Given the description of an element on the screen output the (x, y) to click on. 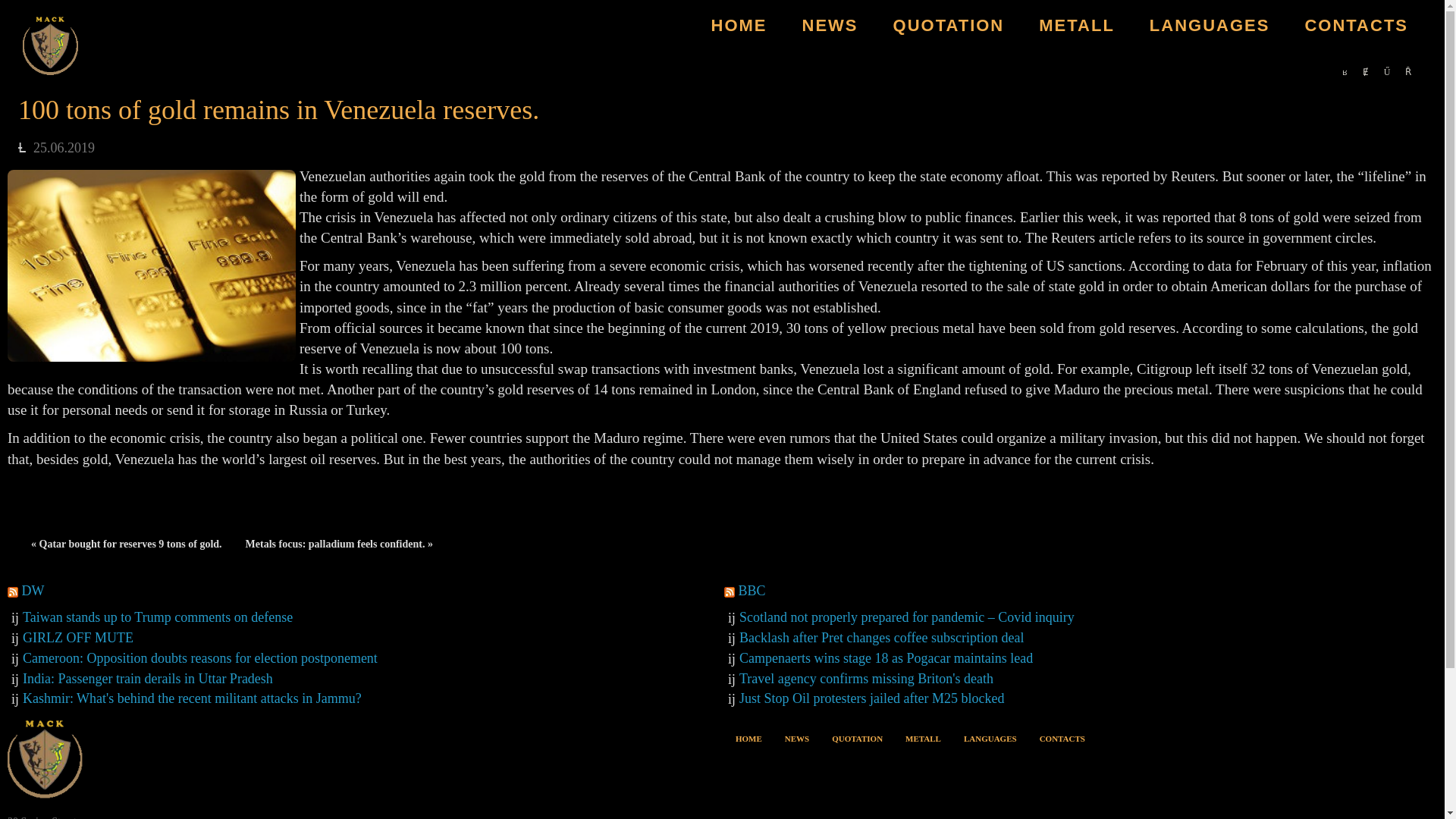
India: Passenger train derails in Uttar Pradesh (148, 678)
Kashmir: What's behind the recent militant attacks in Jammu? (192, 698)
Qatar bought for reserves 9 tons of gold. (126, 544)
QUOTATION (949, 25)
NEWS (829, 25)
QUOTATION (856, 736)
NEWS (796, 736)
Campenaerts wins stage 18 as Pogacar maintains lead (885, 657)
CONTACTS (1061, 736)
METALL (1076, 25)
DW (32, 590)
BBC (751, 590)
Travel agency confirms missing Briton's death (865, 678)
Just Stop Oil protesters jailed after M25 blocked (871, 698)
